Given the description of an element on the screen output the (x, y) to click on. 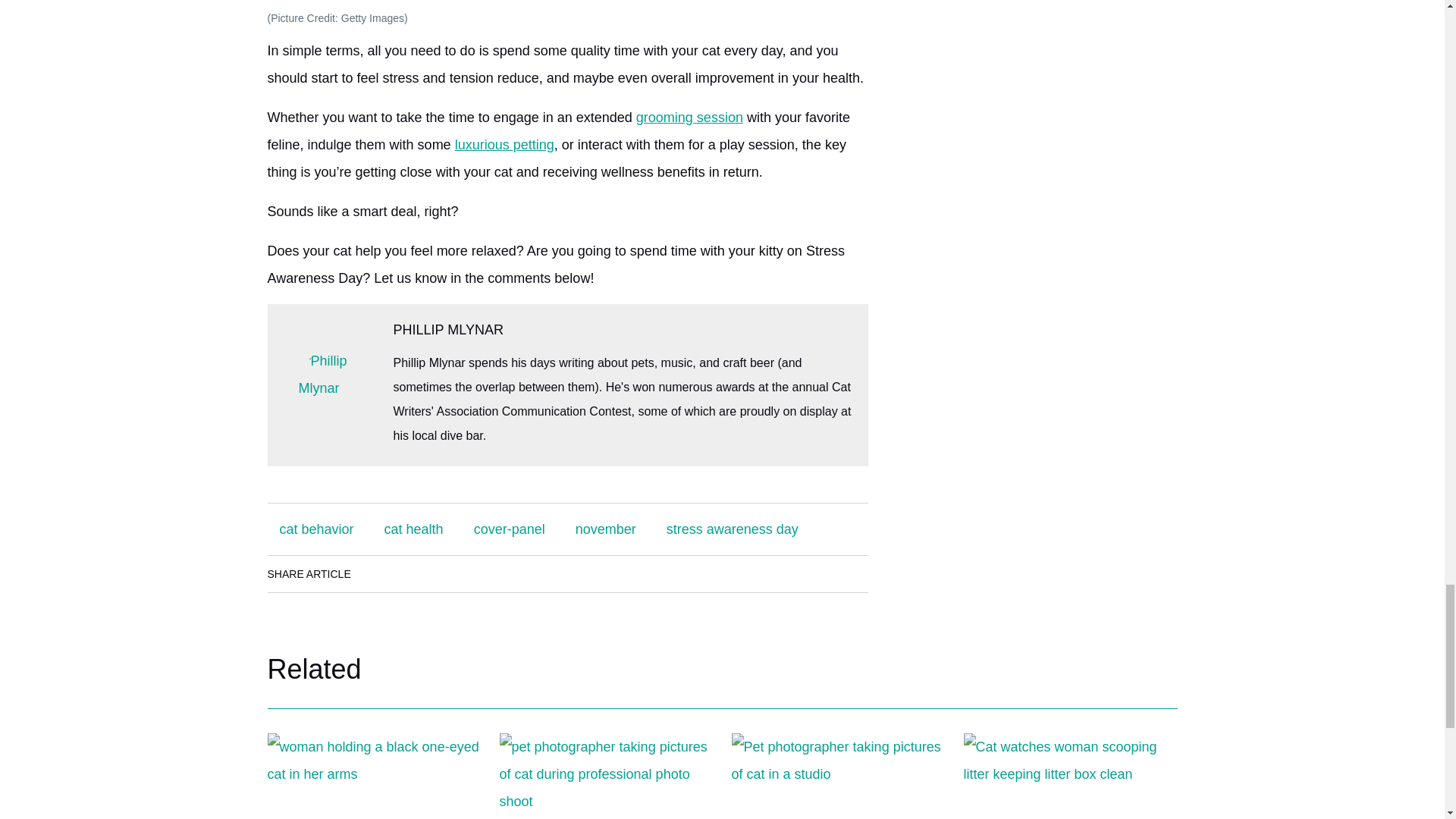
How to Prepare Your Cat for a Professional Photo Shoot (606, 776)
cat health (413, 528)
How to Choose the Perfect Pet Photographer for Your Cat (837, 776)
How to Care for a One-Eyed Cat (373, 776)
luxurious petting (504, 144)
cat behavior (315, 528)
grooming session (689, 117)
cover-panel (509, 528)
PHILLIP MLYNAR (447, 329)
